Given the description of an element on the screen output the (x, y) to click on. 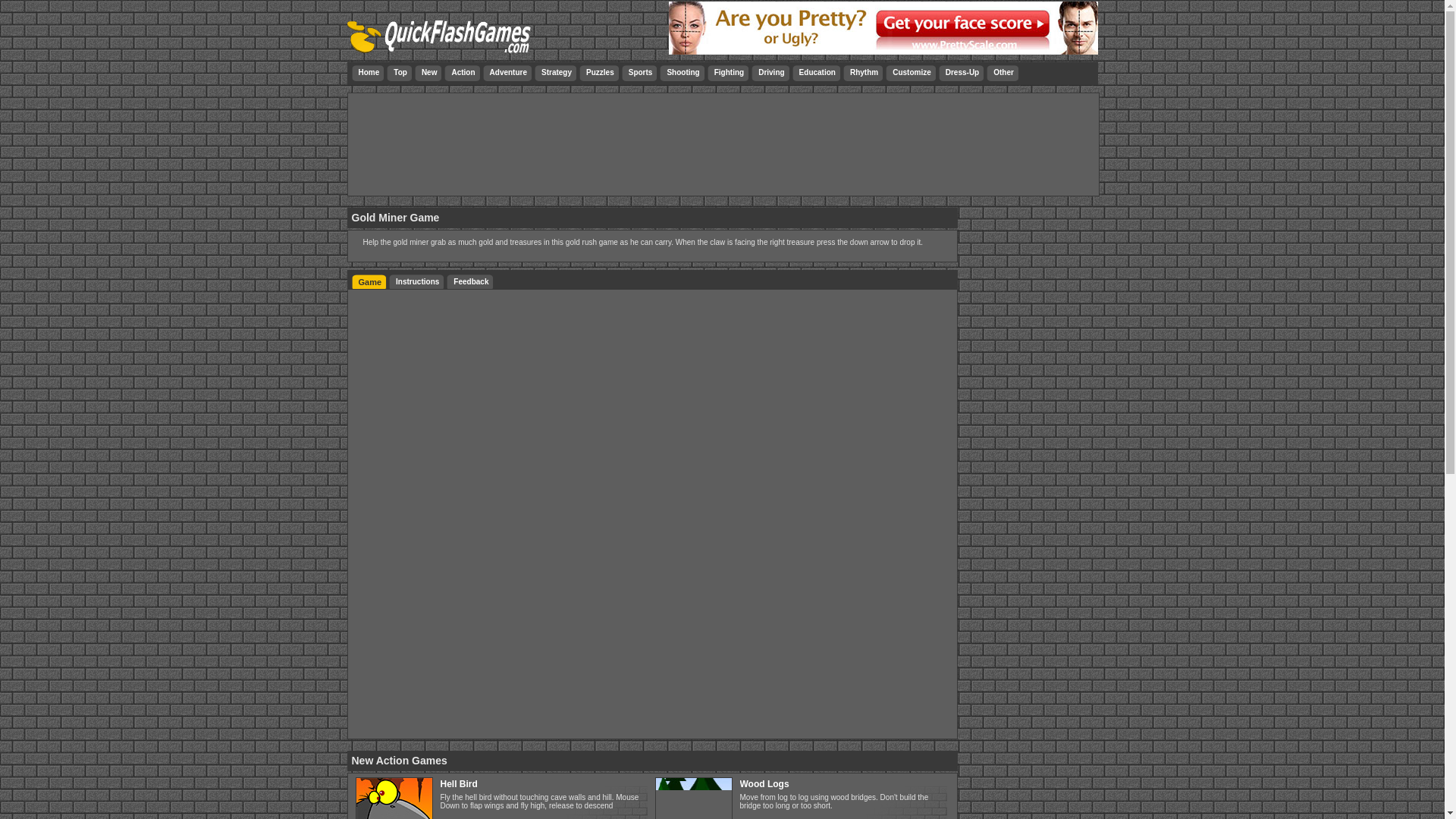
Instructions (416, 281)
Home (367, 72)
Fighting (728, 72)
Adventure (507, 72)
Sports (640, 72)
Rhythm (864, 72)
Other (1002, 72)
New (428, 72)
Shooting (682, 72)
Strategy (556, 72)
Top (399, 72)
Feedback (470, 281)
Face Beauty test (882, 27)
Customize (911, 72)
Driving (770, 72)
